Given the description of an element on the screen output the (x, y) to click on. 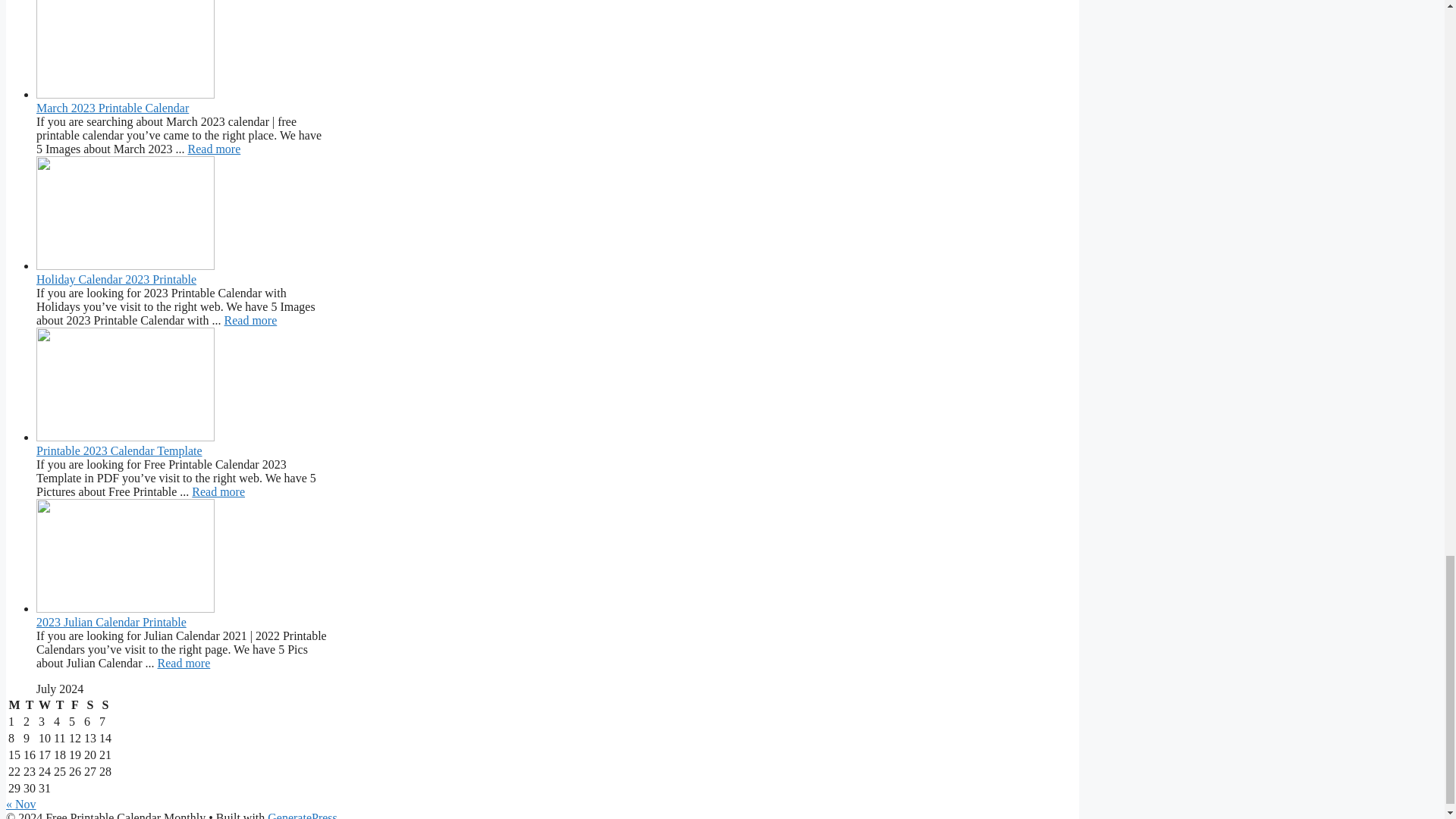
Friday (74, 704)
Printable 2023 Calendar Template (218, 491)
Monday (14, 704)
Wednesday (43, 704)
Tuesday (29, 704)
March 2023 Printable Calendar (214, 148)
Saturday (89, 704)
Thursday (59, 704)
2023 Julian Calendar Printable (184, 662)
Holiday Calendar 2023 Printable (251, 319)
